Given the description of an element on the screen output the (x, y) to click on. 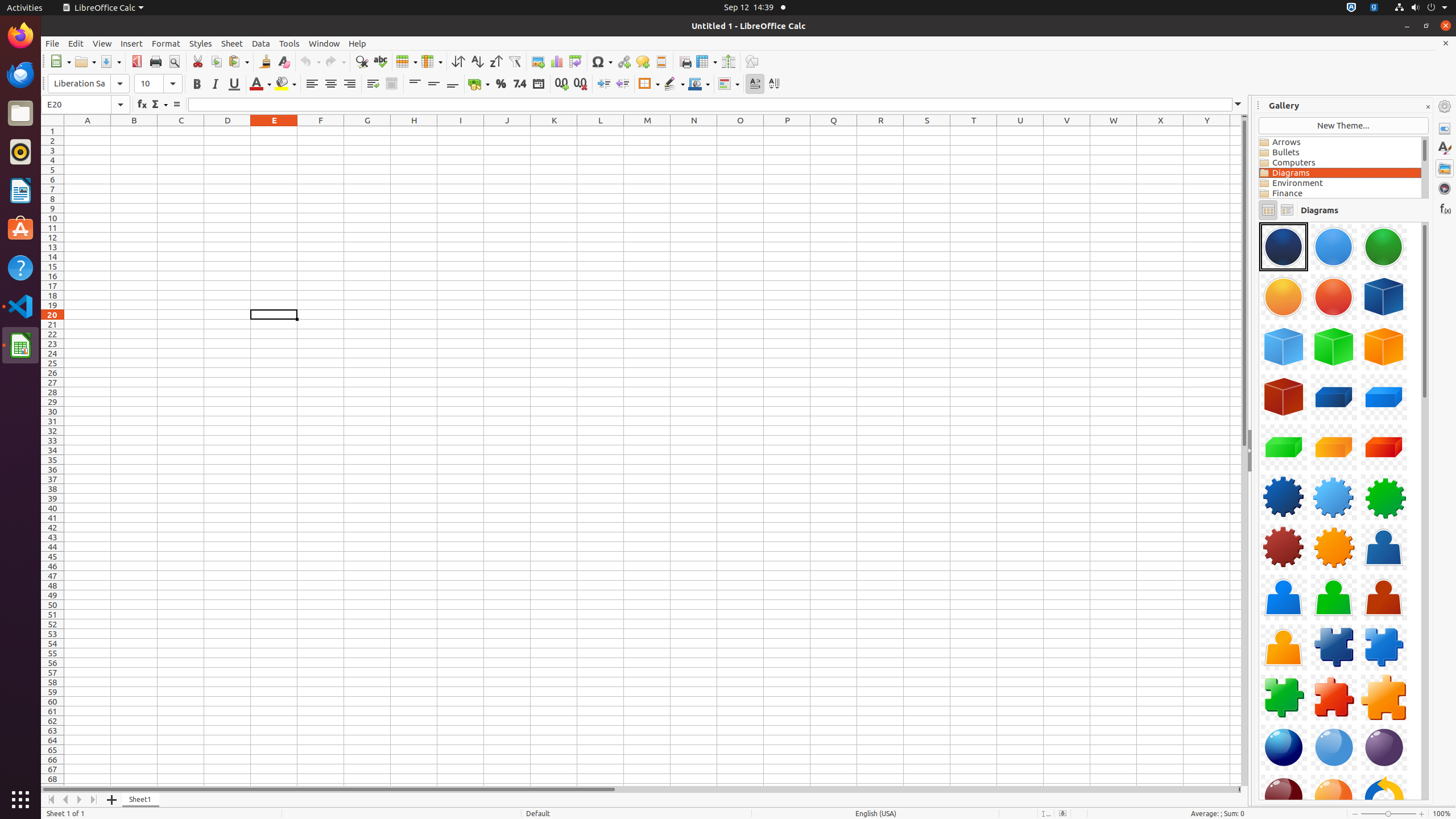
Styles Element type: radio-button (1444, 148)
Computers Element type: list-item (1340, 162)
Component-PuzzlePiece01-DarkBlue Element type: list-item (1333, 646)
Component-Cuboid03-Green Element type: list-item (1283, 446)
Redo Element type: push-button (334, 61)
